Given the description of an element on the screen output the (x, y) to click on. 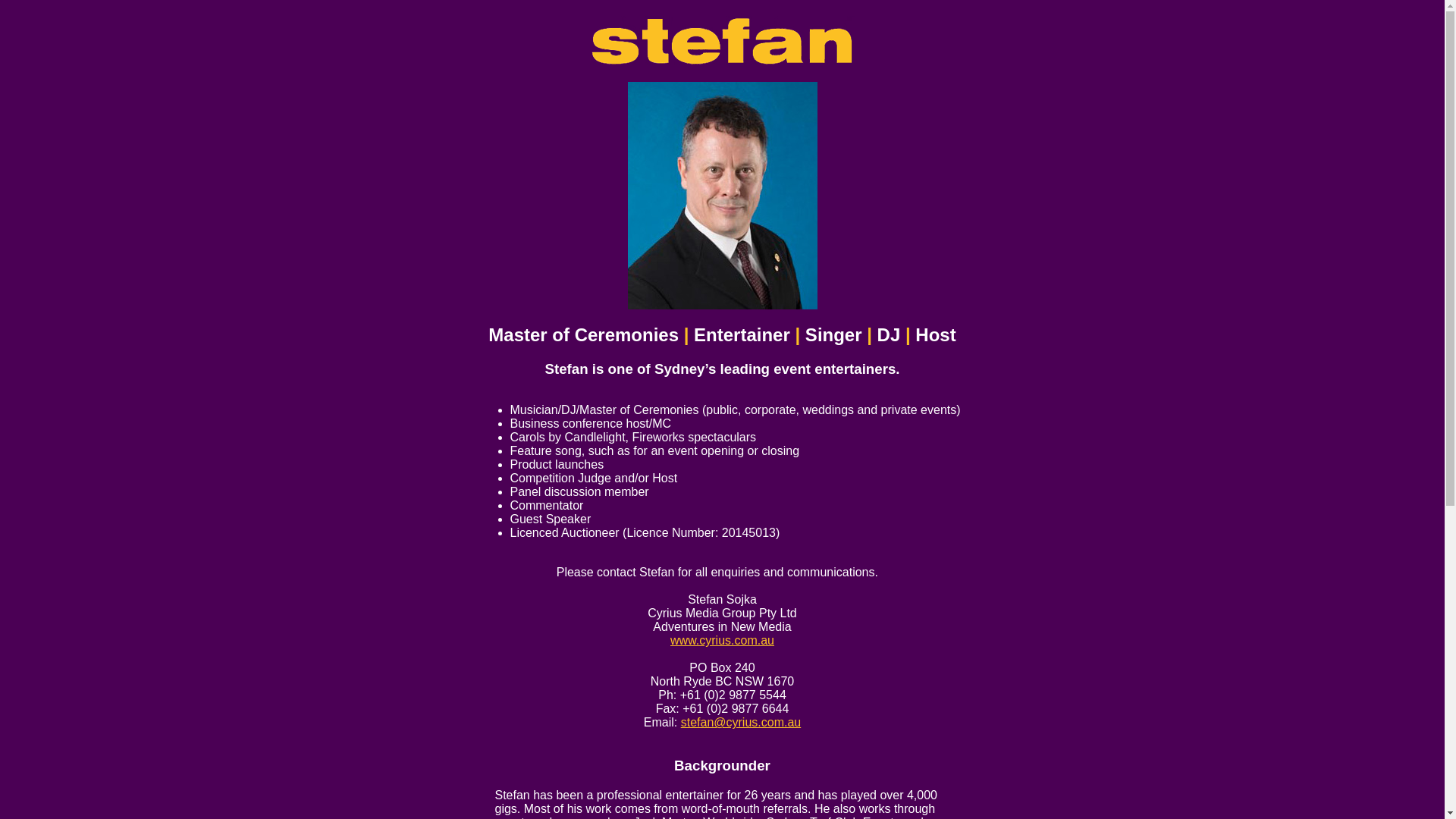
stefan@cyrius.com.au Element type: text (740, 721)
www.cyrius.com.au Element type: text (722, 639)
